Given the description of an element on the screen output the (x, y) to click on. 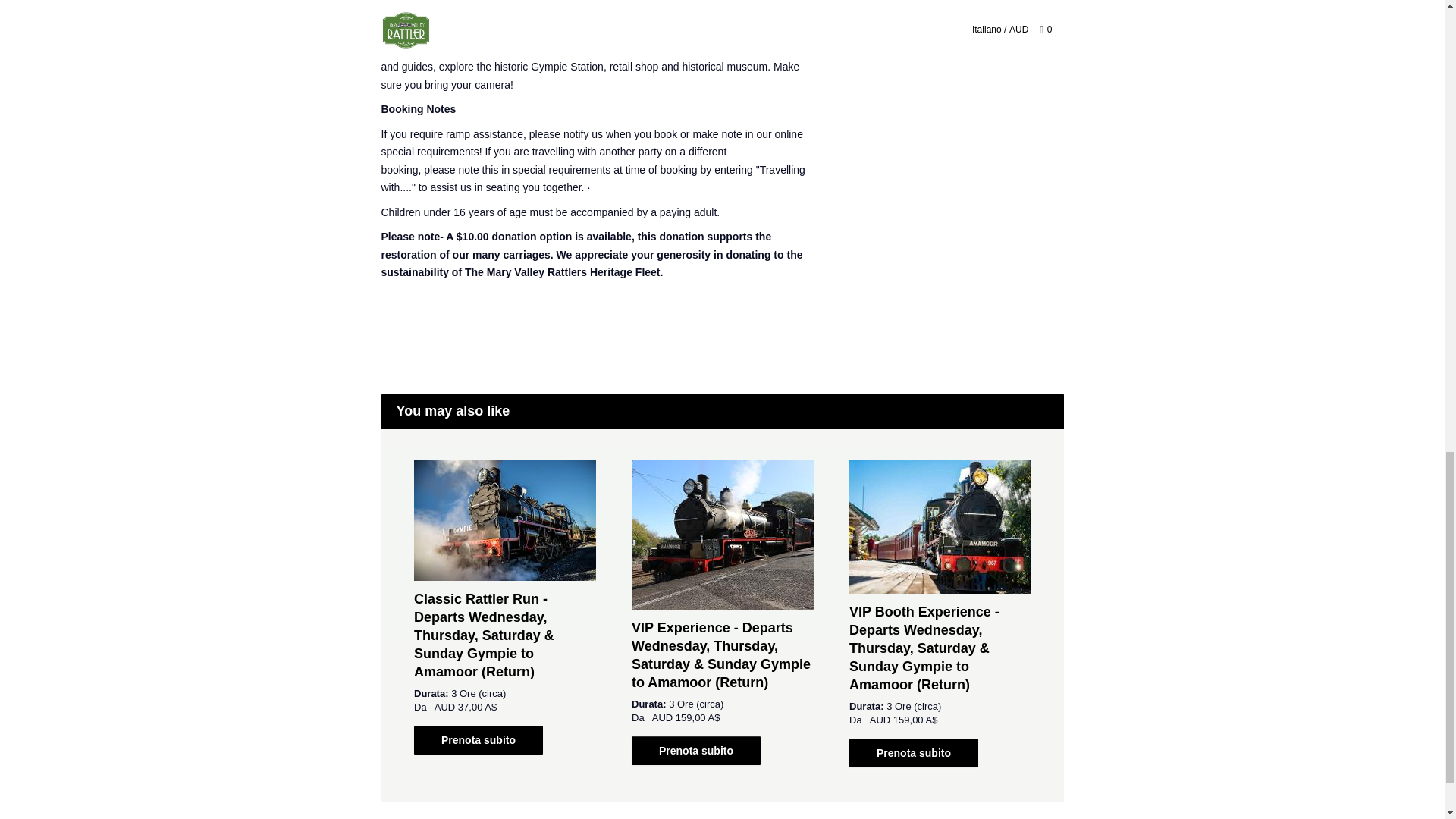
Conversione stimata da 37 (477, 706)
Conversione stimata da 159 (915, 719)
Conversione stimata da 159 (697, 717)
